Given the description of an element on the screen output the (x, y) to click on. 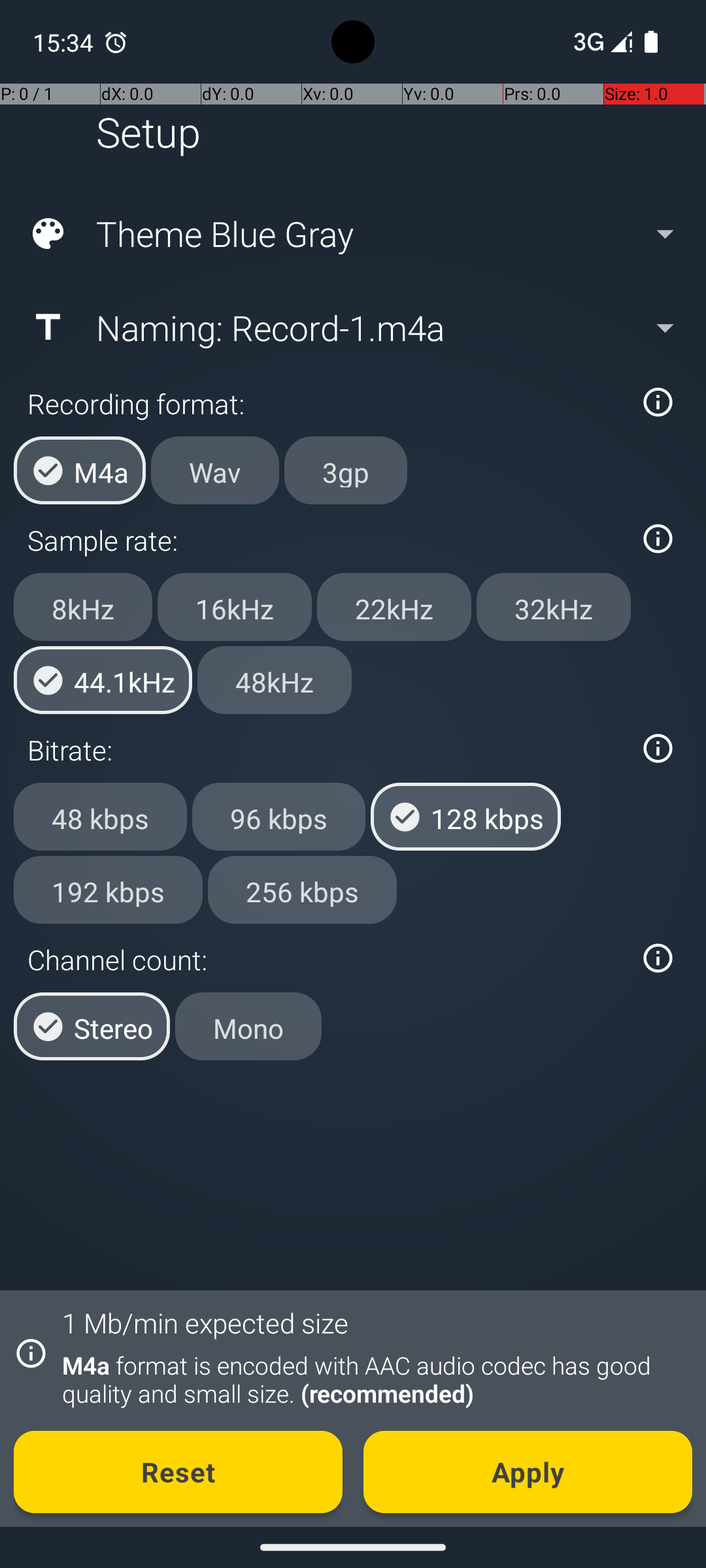
Clock notification: Missed alarm Element type: android.widget.ImageView (115, 41)
